Given the description of an element on the screen output the (x, y) to click on. 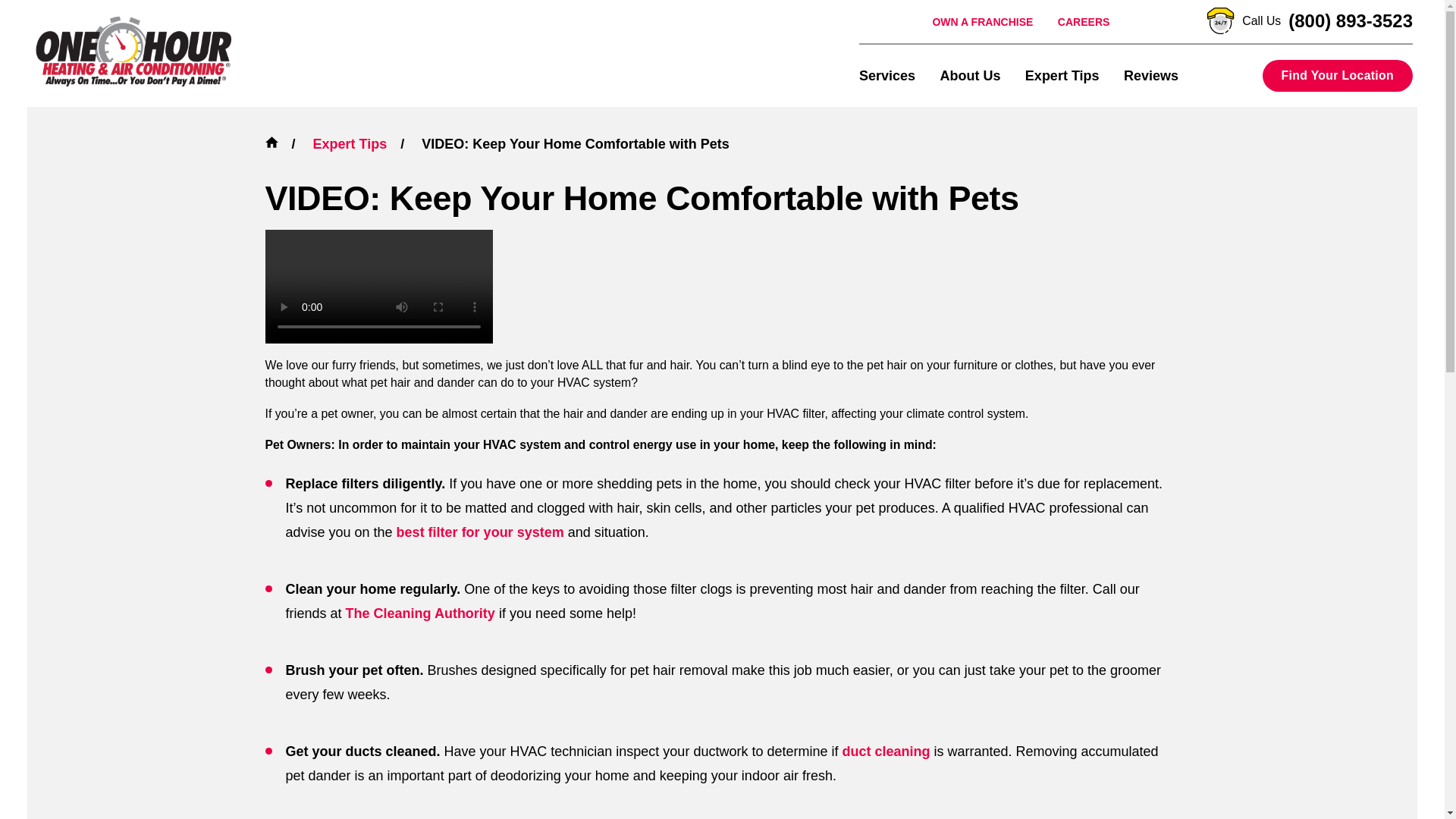
CAREERS (1083, 21)
OWN A FRANCHISE (981, 21)
Services (887, 75)
